Given the description of an element on the screen output the (x, y) to click on. 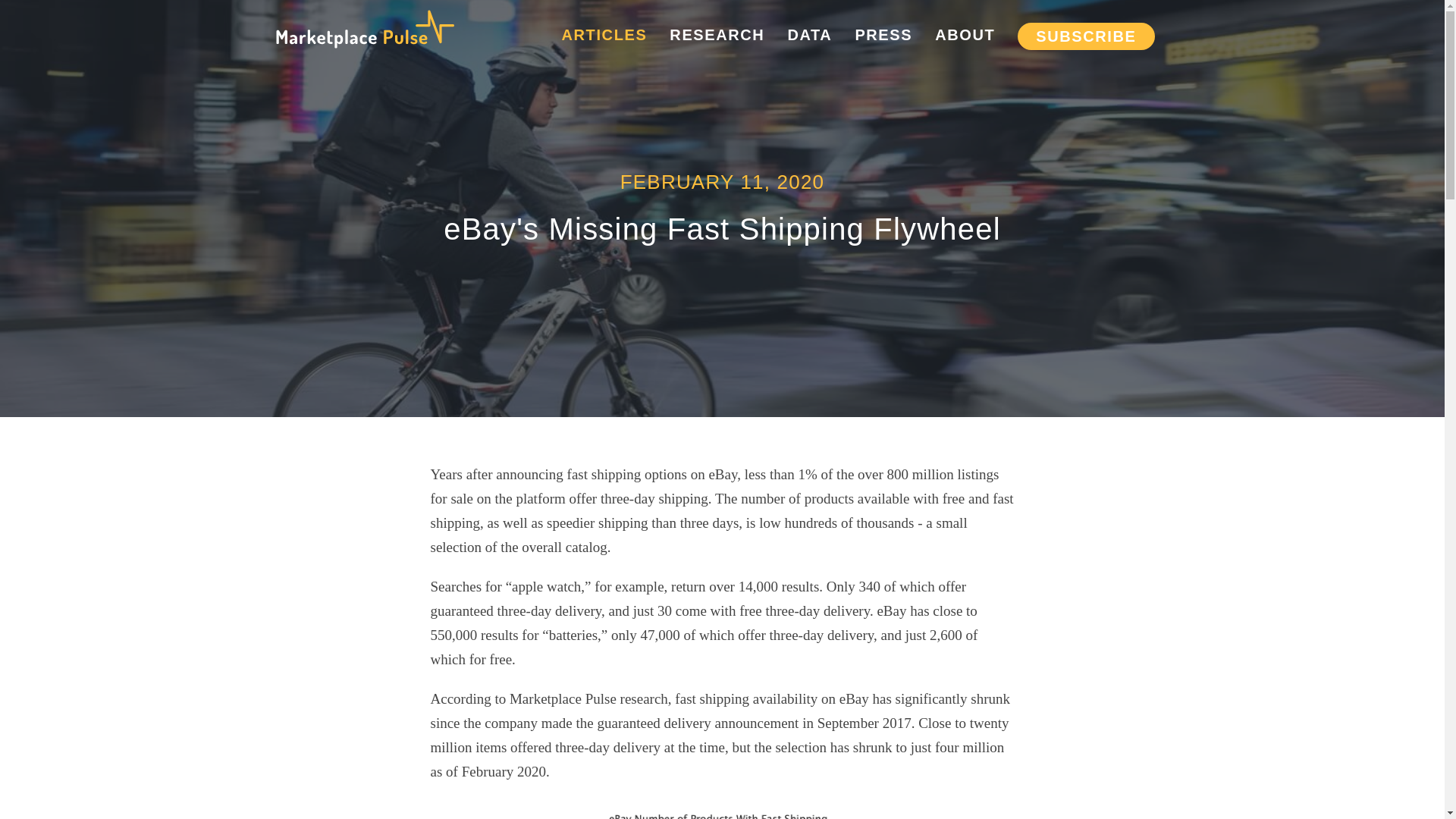
DATA (809, 34)
ARTICLES (604, 34)
PRESS (883, 34)
RESEARCH (716, 34)
ABOUT (964, 34)
SUBSCRIBE (1085, 35)
